Given the description of an element on the screen output the (x, y) to click on. 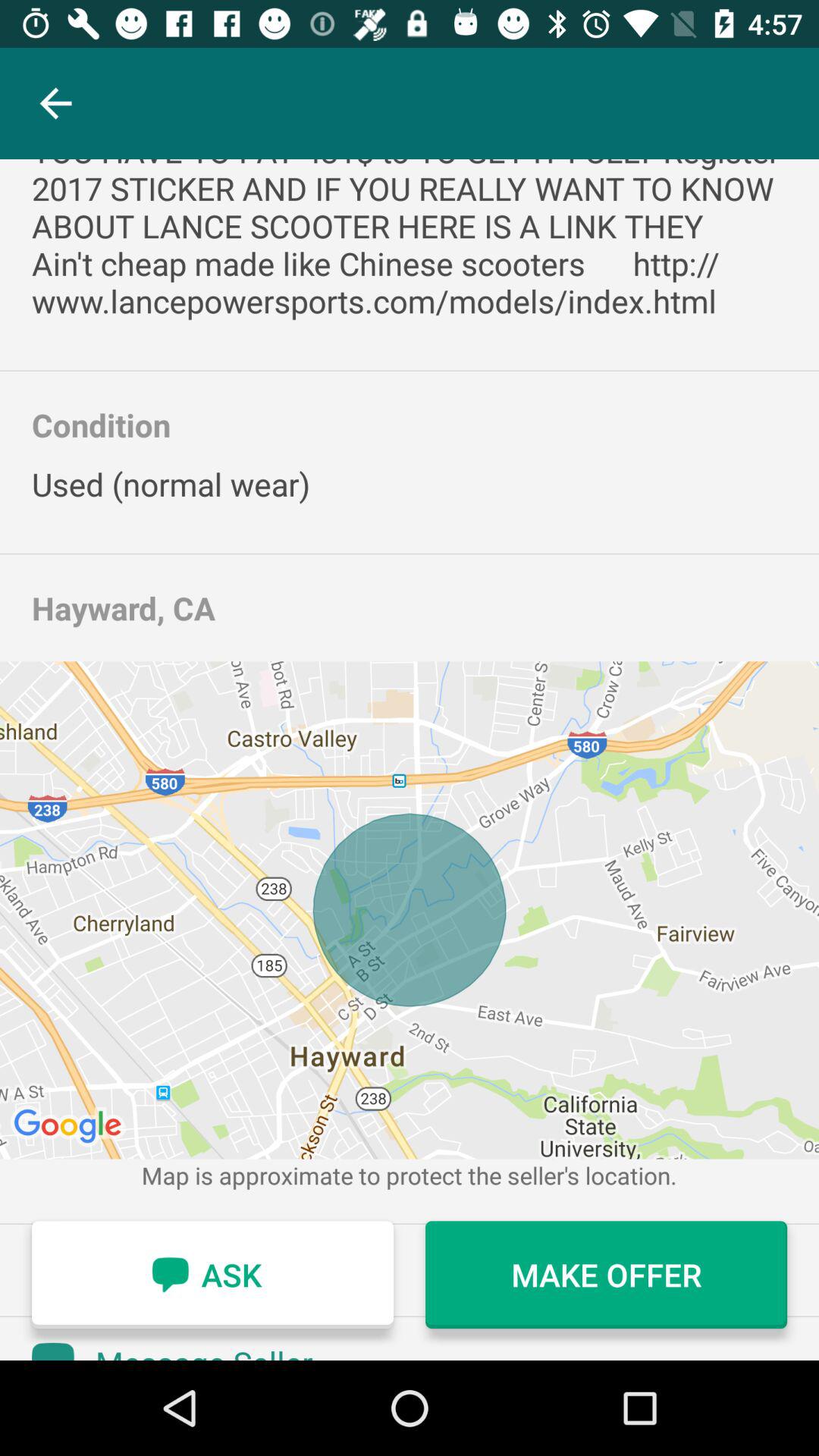
click on the text make offer (606, 1275)
